Given the description of an element on the screen output the (x, y) to click on. 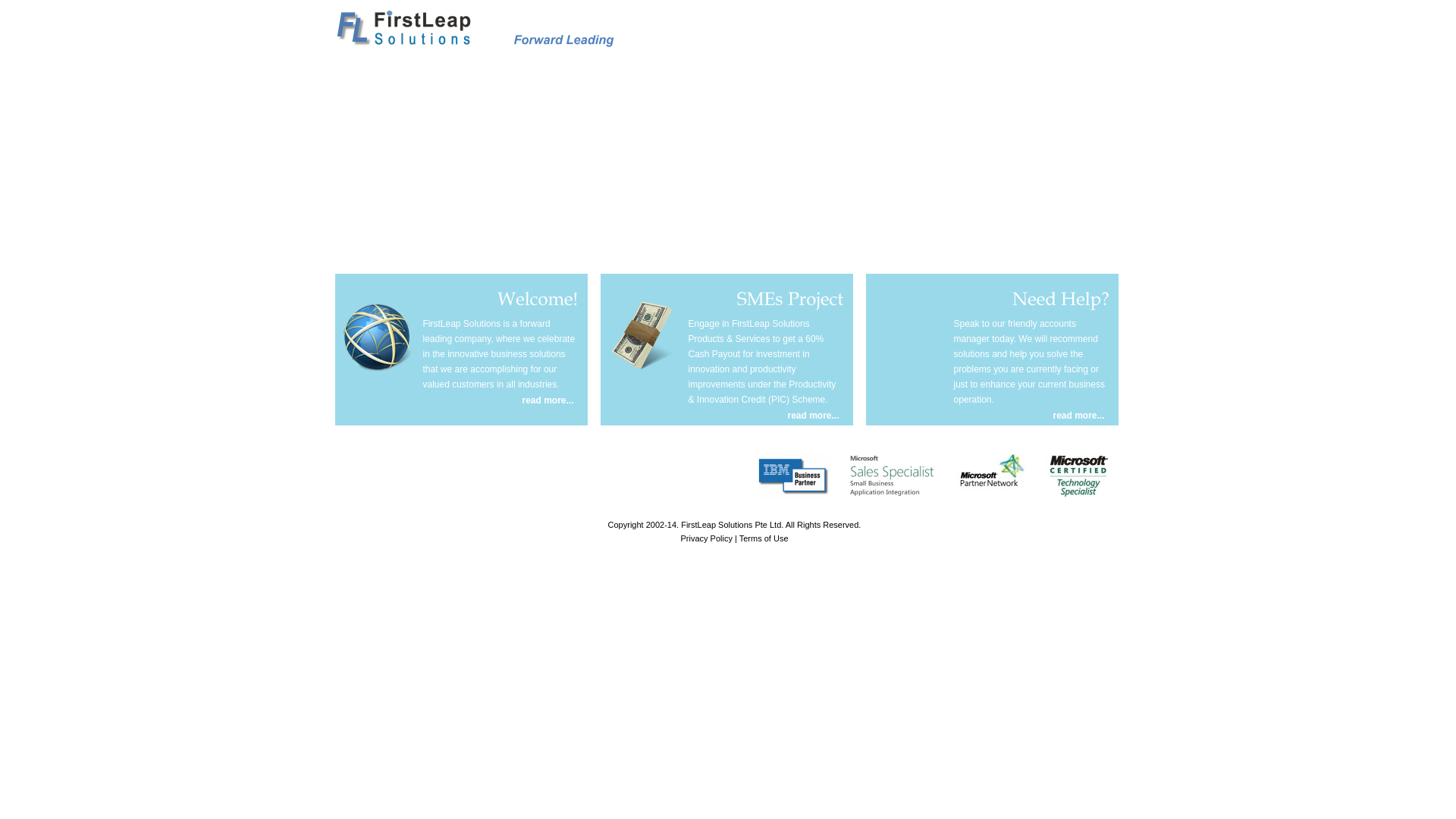
read more... Element type: text (813, 415)
Terms of Use Element type: text (763, 537)
read more... Element type: text (547, 400)
read more... Element type: text (1078, 415)
Privacy Policy Element type: text (705, 537)
